Given the description of an element on the screen output the (x, y) to click on. 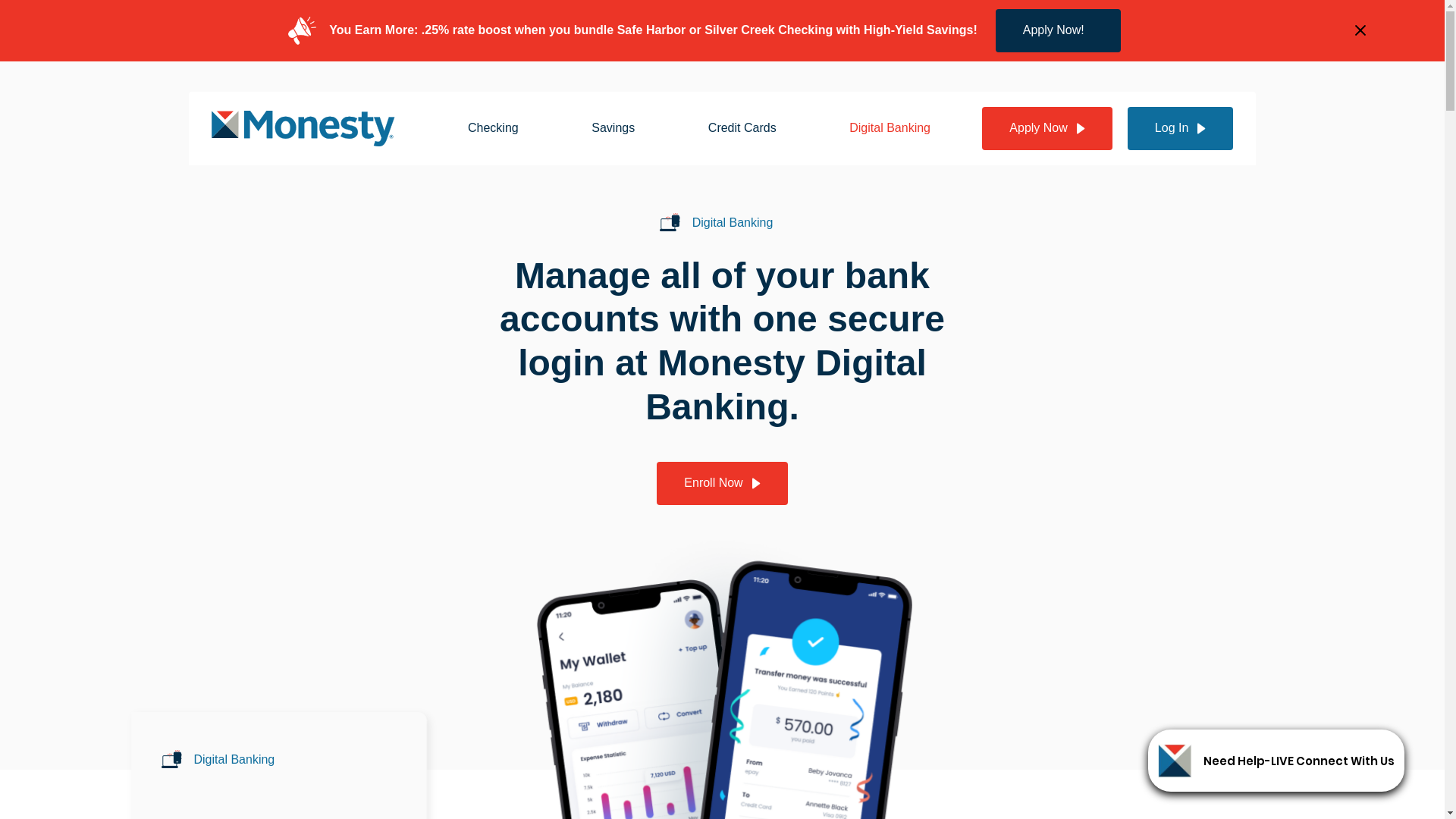
Apply Now! Element type: text (1057, 30)
Checking Element type: text (492, 128)
Apply Now Element type: text (1046, 128)
Log In Element type: text (1180, 128)
Savings Element type: text (612, 128)
Digital Banking Element type: text (889, 128)
Credit Cards Element type: text (742, 128)
Enroll Now Element type: text (721, 483)
Need Help-LIVE Connect With Us Element type: text (1314, 760)
